Given the description of an element on the screen output the (x, y) to click on. 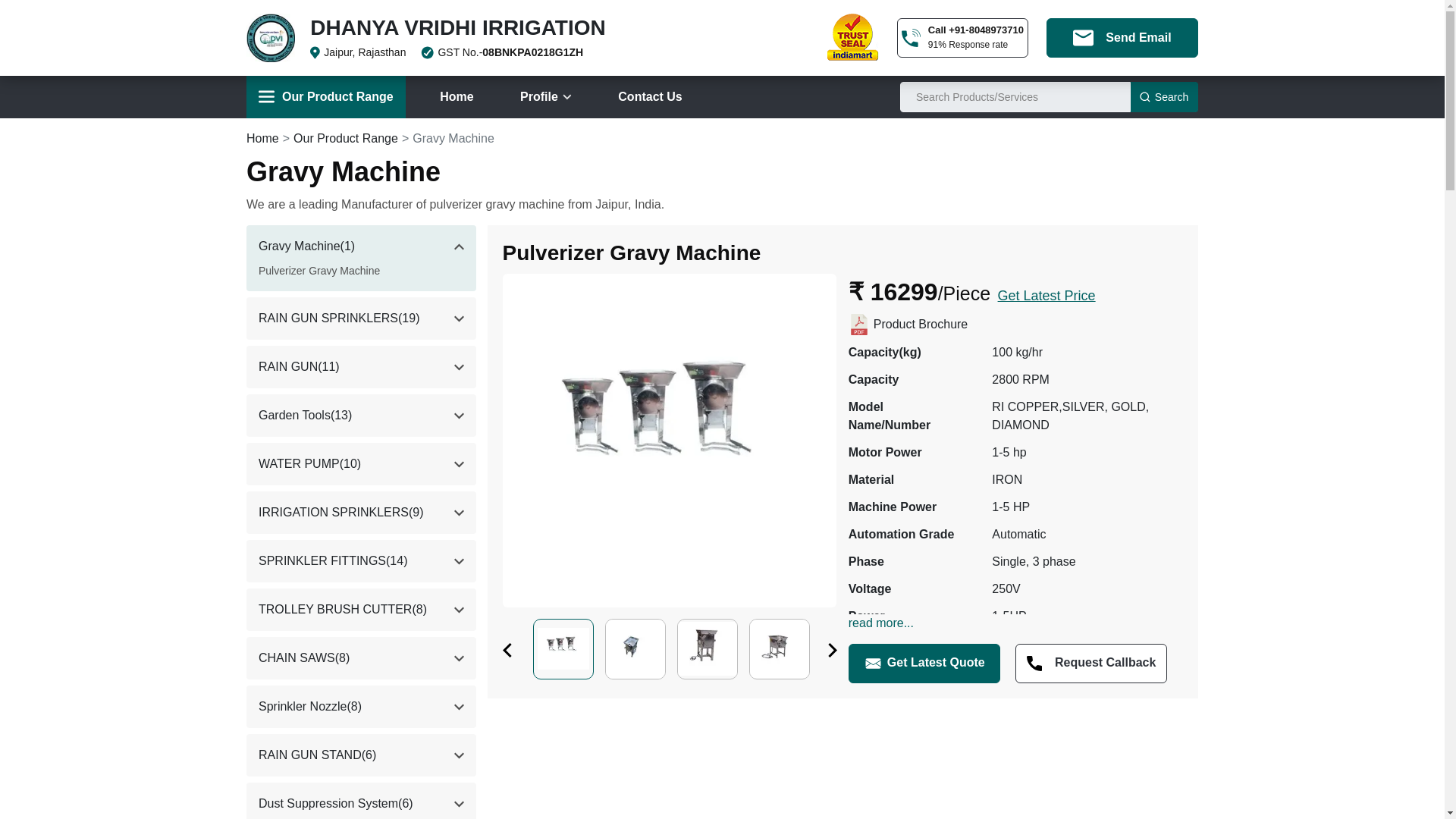
Send Email (1122, 37)
Profile (545, 96)
Home (456, 96)
Our Product Range (326, 96)
